Given the description of an element on the screen output the (x, y) to click on. 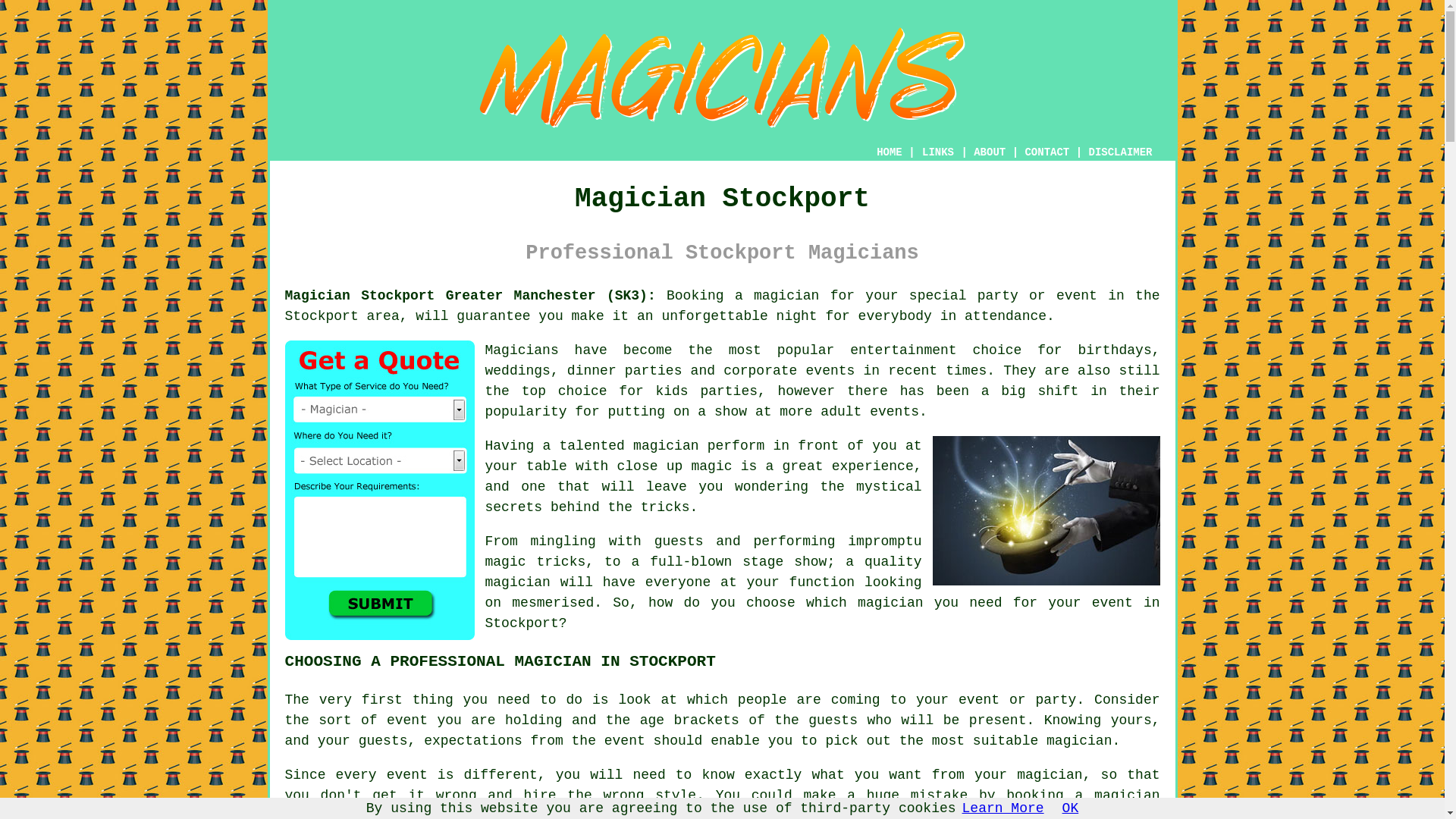
LINKS (938, 151)
Magician Stockport (722, 77)
HOME (889, 152)
